Given the description of an element on the screen output the (x, y) to click on. 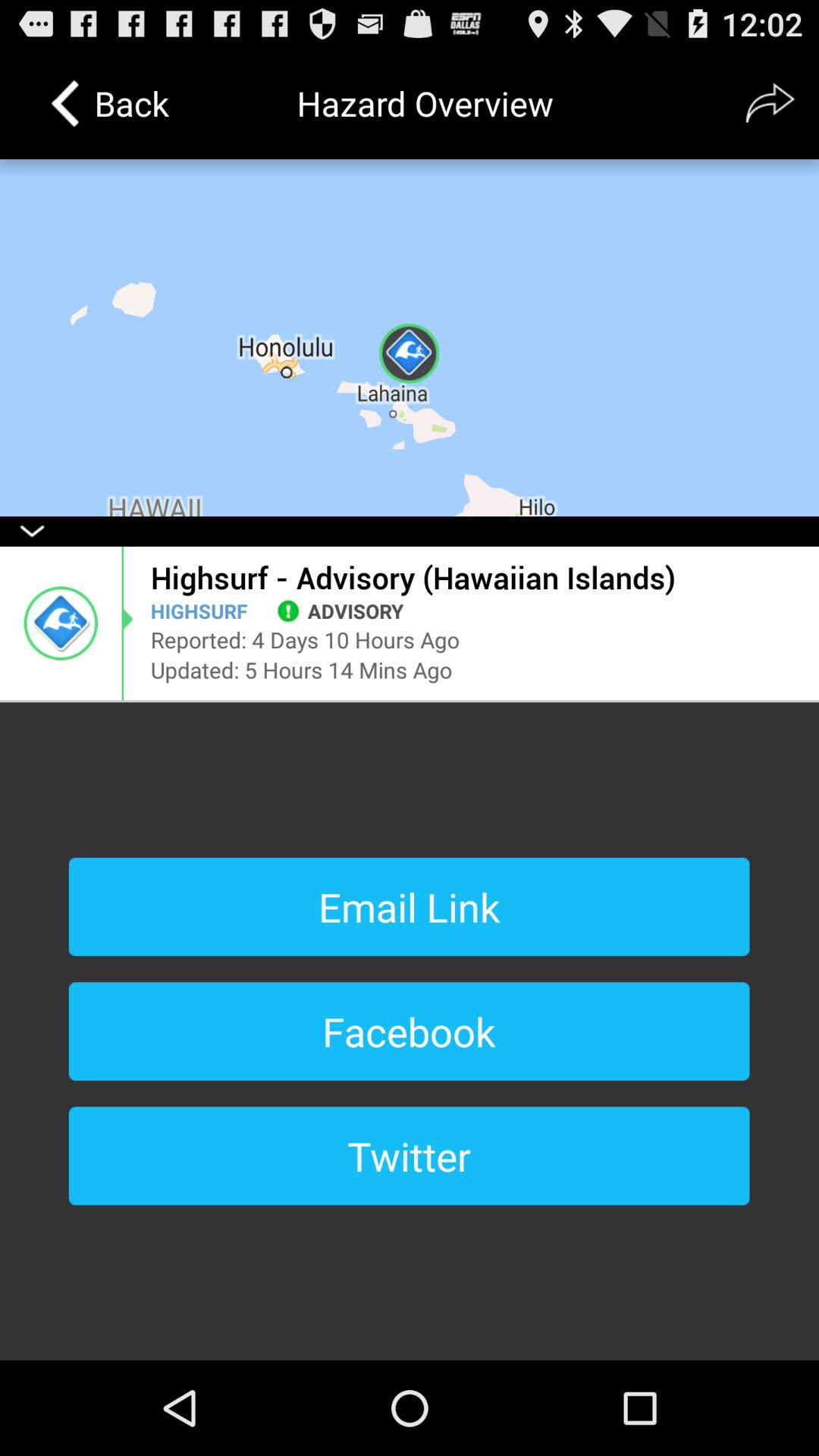
click the button on green color icon (288, 610)
click on the button named as email link (409, 906)
click on the icon which is to the left of highsurf  advisory hawaiian islands (60, 623)
